Given the description of an element on the screen output the (x, y) to click on. 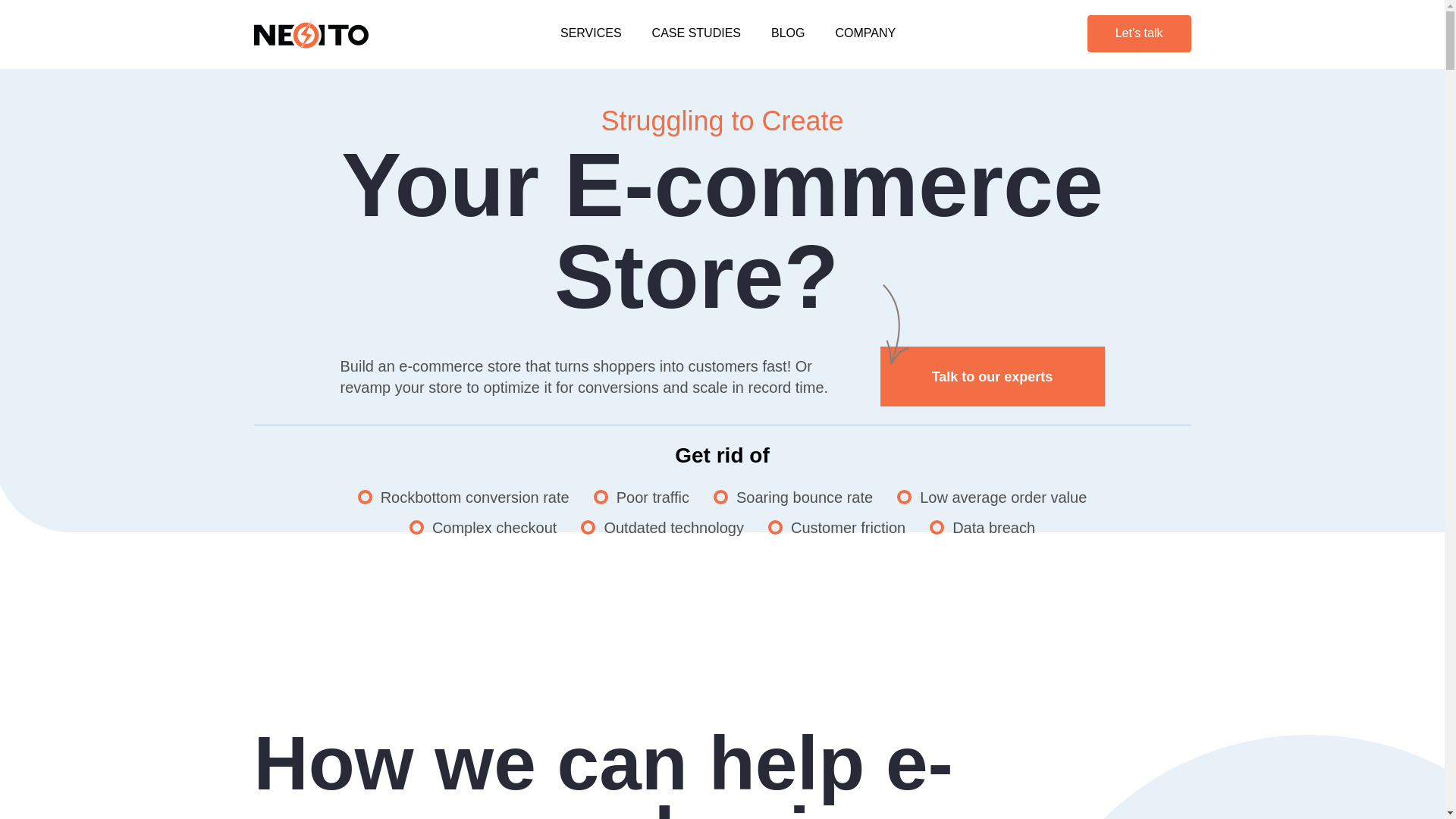
COMPANY (864, 32)
NeoITO (310, 34)
CASE STUDIES (696, 32)
BLOG (788, 32)
SERVICES (590, 32)
Talk to our experts (991, 376)
